Given the description of an element on the screen output the (x, y) to click on. 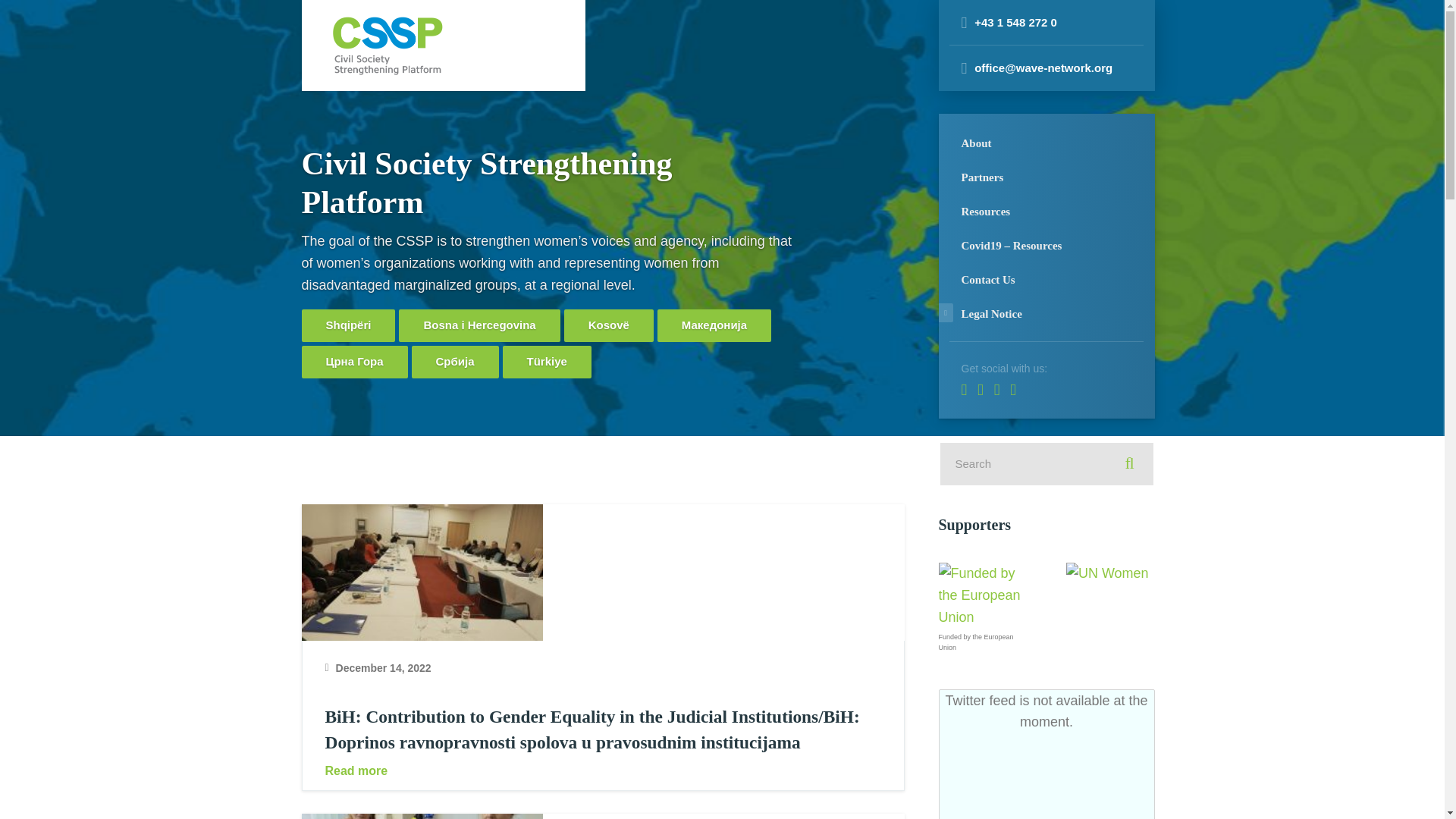
Read more (602, 770)
Bosna i Hercegovina (478, 325)
Twitter feed is not available at the moment. (1046, 754)
